Given the description of an element on the screen output the (x, y) to click on. 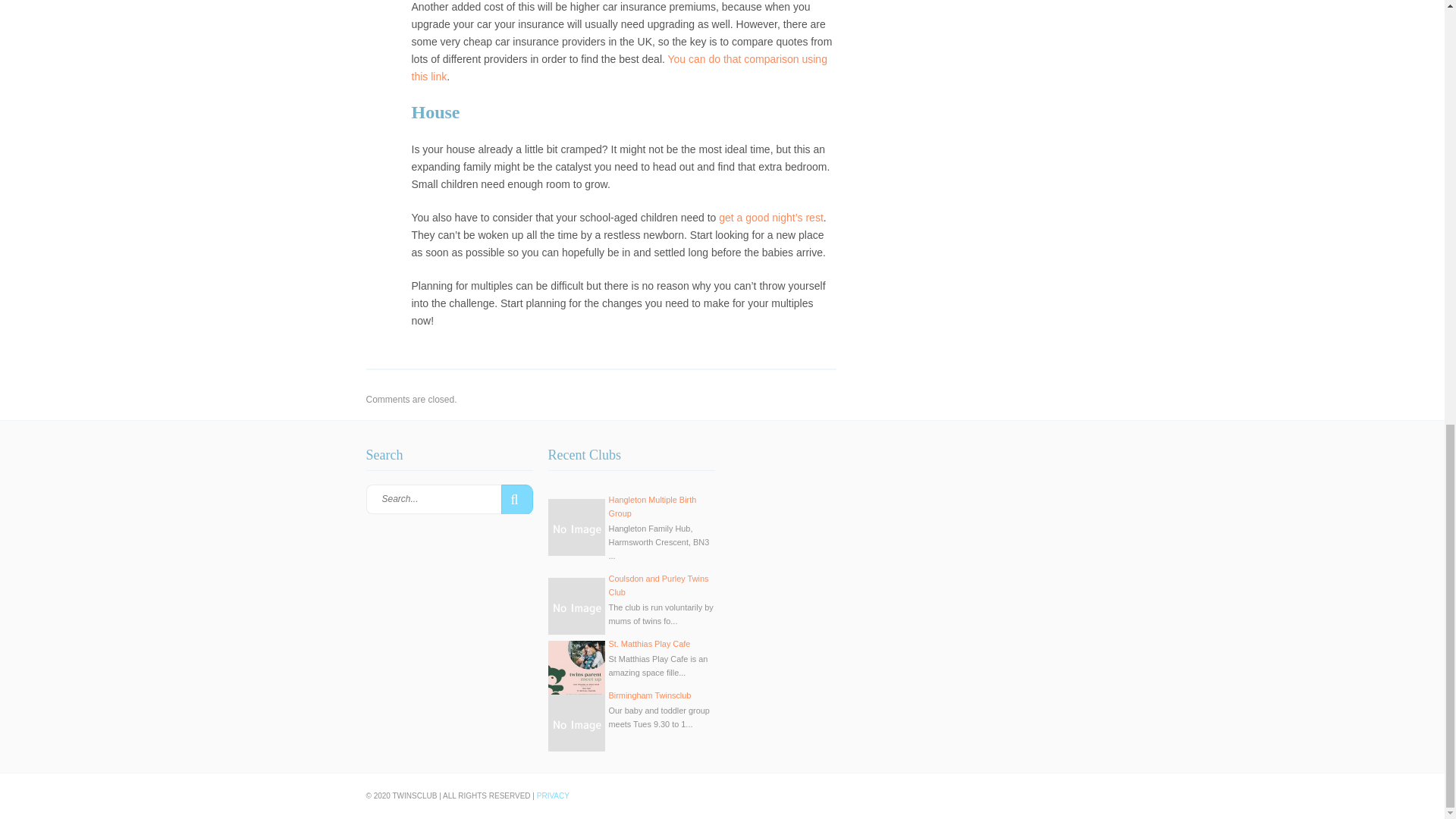
Hangleton Multiple Birth Group (651, 506)
Birmingham Twinsclub (649, 695)
You can do that comparison using this link (618, 67)
St. Matthias Play Cafe (649, 643)
Twins Parenting 1x1 Socials.jpg (575, 668)
Coulsdon and Purley Twins Club (657, 585)
